Given the description of an element on the screen output the (x, y) to click on. 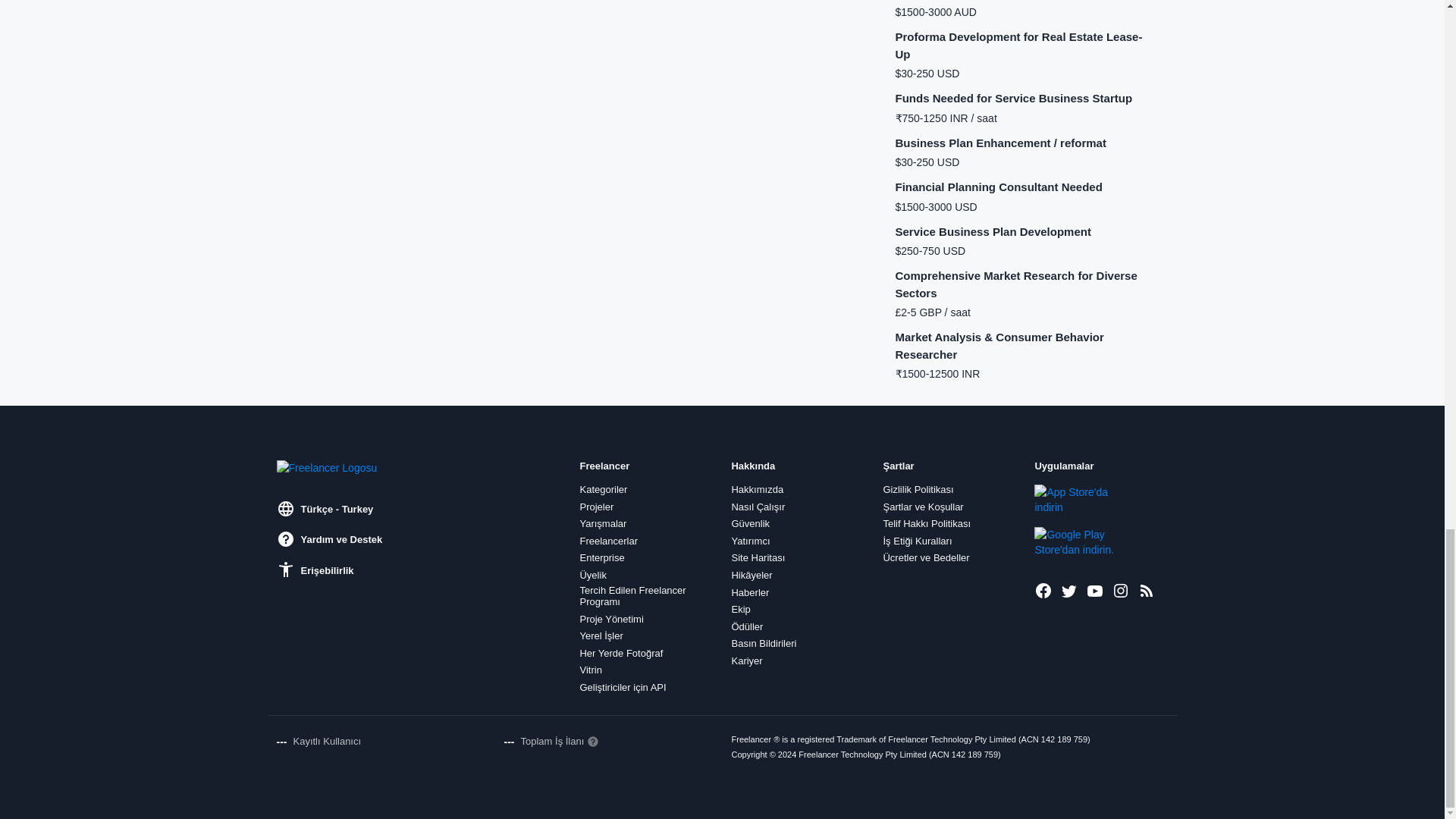
Google Play'den Edinin (1085, 542)
En Son Projeler (1146, 590)
Youtube'da Freelancer (1094, 590)
Instagram'da Freelancer (1120, 590)
Twitter'da Freelancer (1068, 590)
Facebook'da Freelancer (1042, 590)
